Given the description of an element on the screen output the (x, y) to click on. 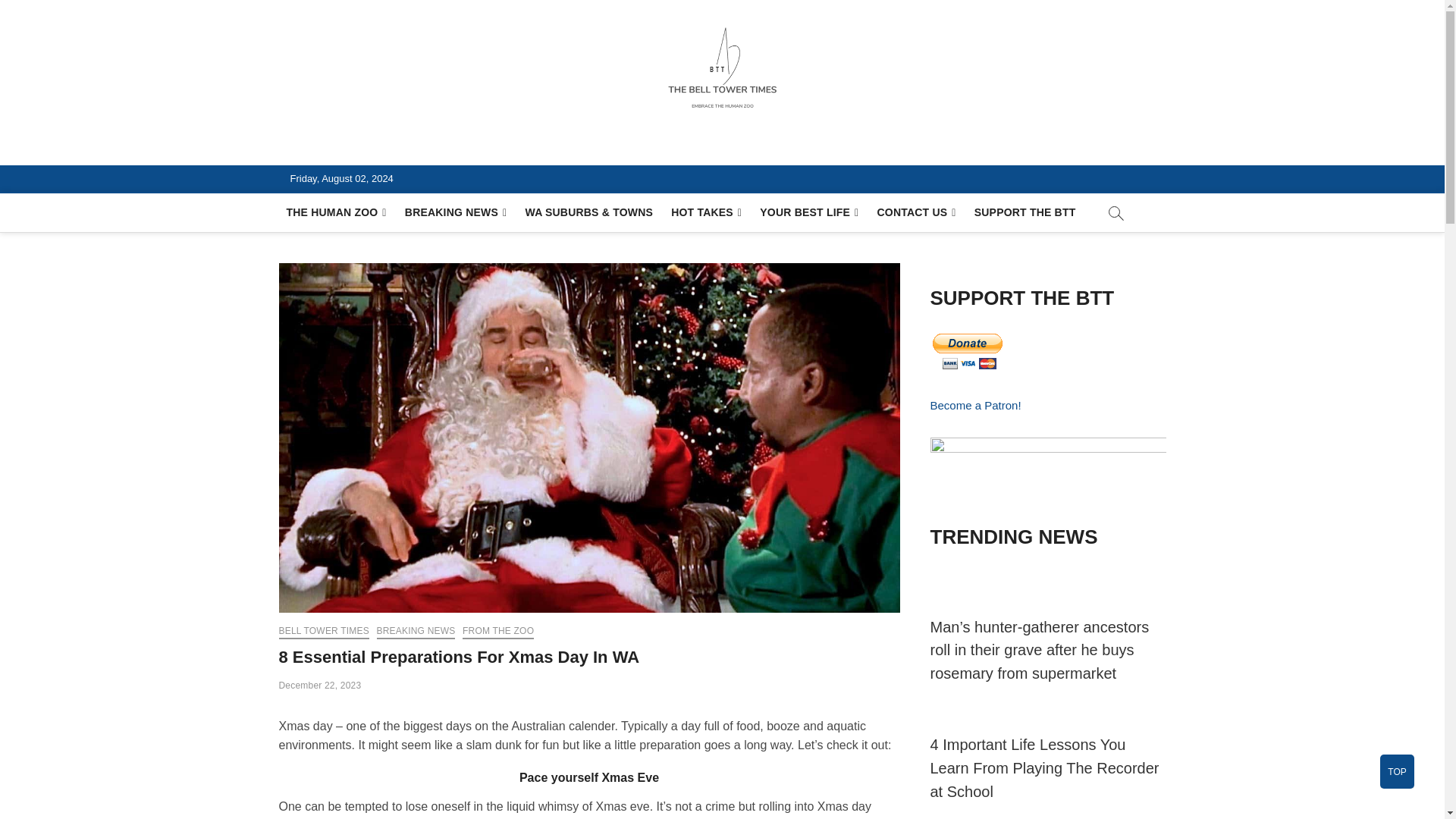
December 22, 2023 (320, 685)
THE HUMAN ZOO (336, 212)
The Bell Tower Times (416, 146)
BREAKING NEWS (456, 212)
HOT TAKES (706, 212)
YOUR BEST LIFE (809, 212)
The Bell Tower Times (416, 146)
